Given the description of an element on the screen output the (x, y) to click on. 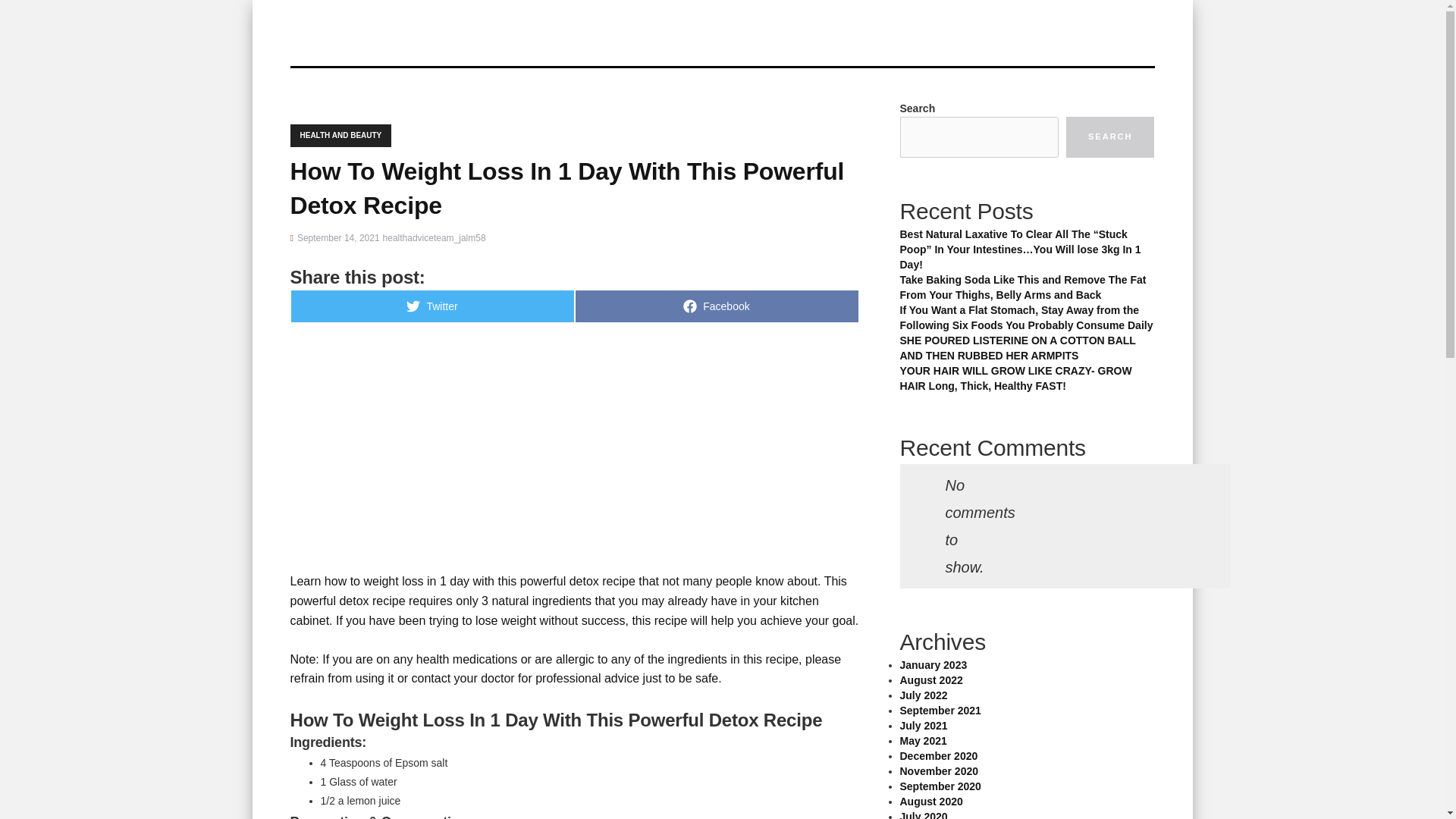
September 2020 (431, 305)
January 2023 (939, 786)
September 2021 (932, 664)
SEARCH (939, 710)
November 2020 (1109, 137)
July 2020 (938, 770)
HEALTH AND BEAUTY (923, 814)
July 2021 (340, 135)
July 2022 (923, 725)
May 2021 (923, 695)
